Given the description of an element on the screen output the (x, y) to click on. 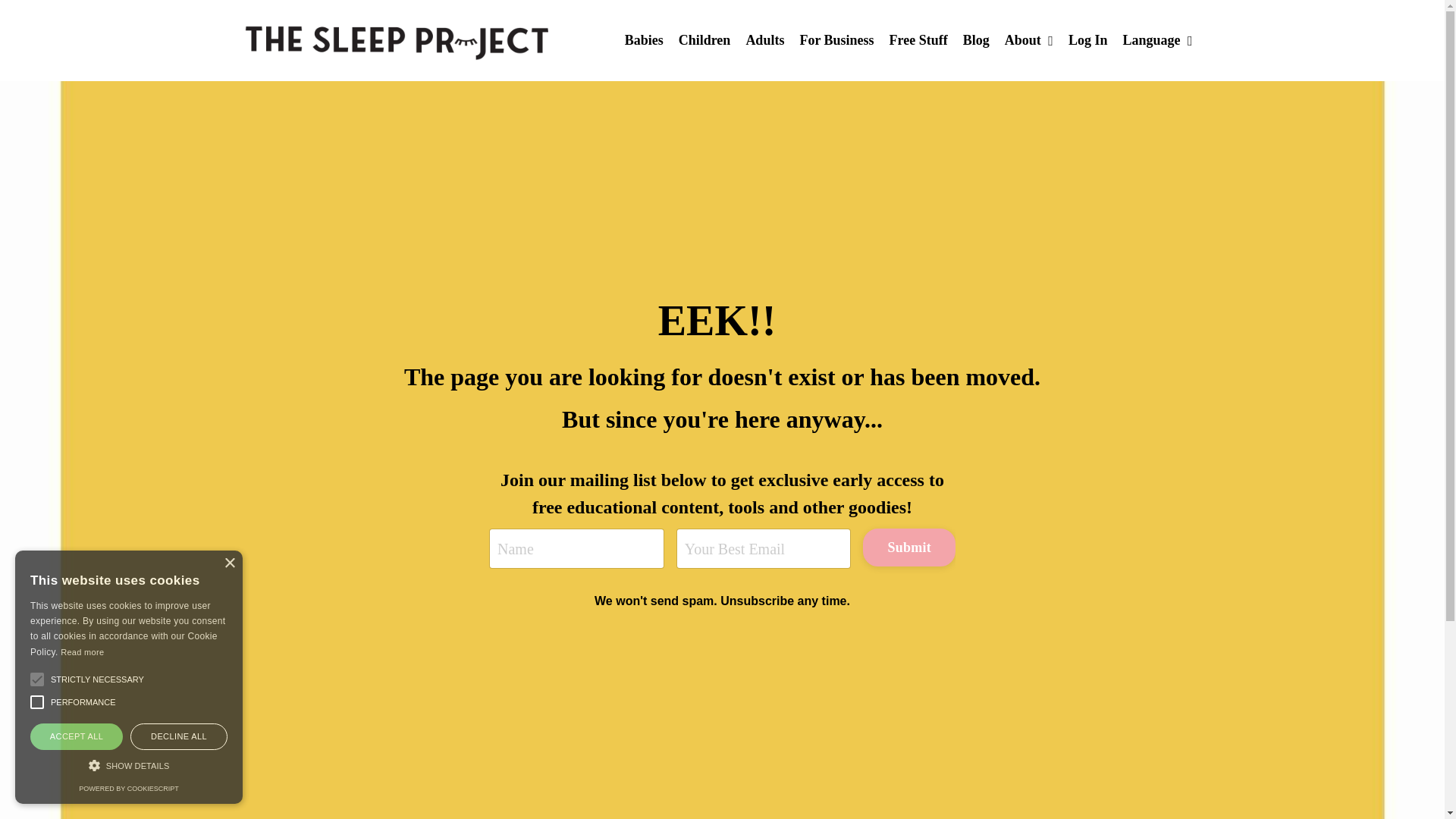
Submit (909, 547)
POWERED BY COOKIESCRIPT (127, 788)
Free Stuff (918, 40)
Babies (643, 40)
Adults (764, 40)
Read more (82, 651)
Blog (976, 40)
For Business (836, 40)
About (1028, 40)
Children (704, 40)
Language (1157, 40)
Consent Management Platform (127, 788)
Log In (1088, 39)
